Given the description of an element on the screen output the (x, y) to click on. 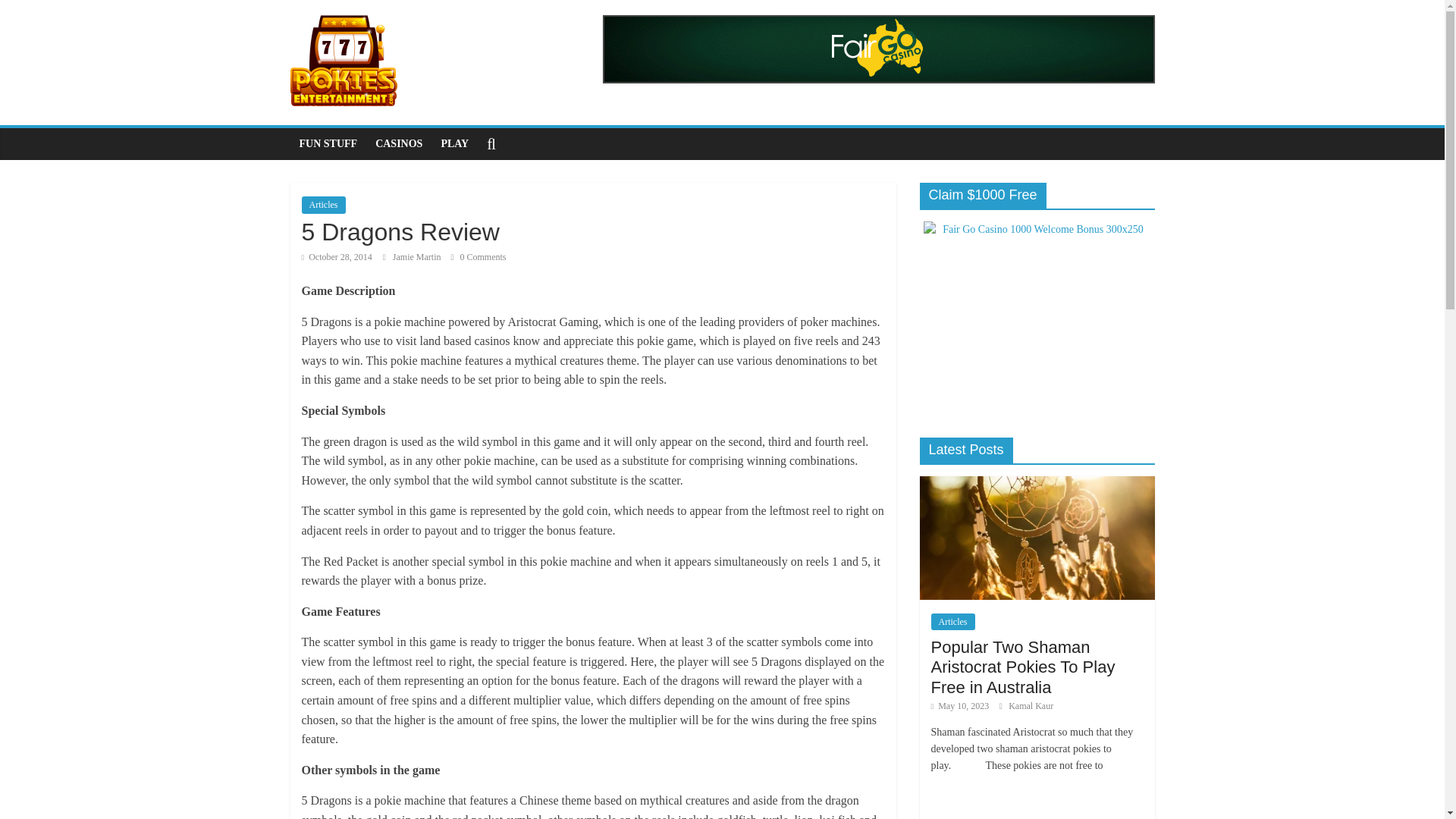
Jamie Martin (418, 256)
4:36 am (336, 256)
0 Comments (477, 256)
May 10, 2023 (960, 706)
FUN STUFF (327, 143)
Articles (953, 621)
October 28, 2014 (336, 256)
CASINOS (398, 143)
Articles (323, 204)
PLAY (453, 143)
